Given the description of an element on the screen output the (x, y) to click on. 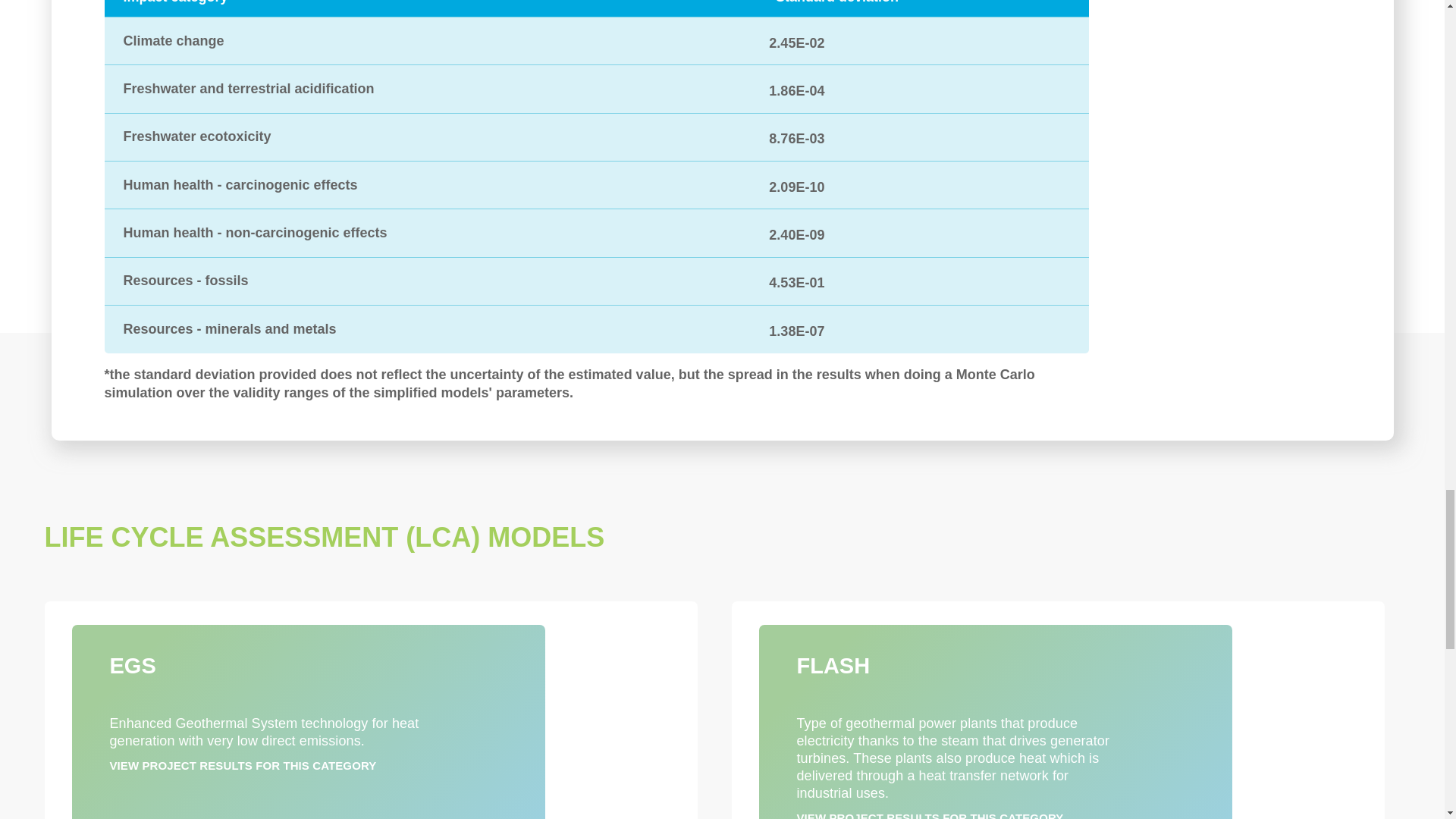
2.45E-02 (797, 40)
VIEW PROJECT RESULTS FOR THIS CATEGORY (929, 815)
VIEW PROJECT RESULTS FOR THIS CATEGORY (242, 765)
